Given the description of an element on the screen output the (x, y) to click on. 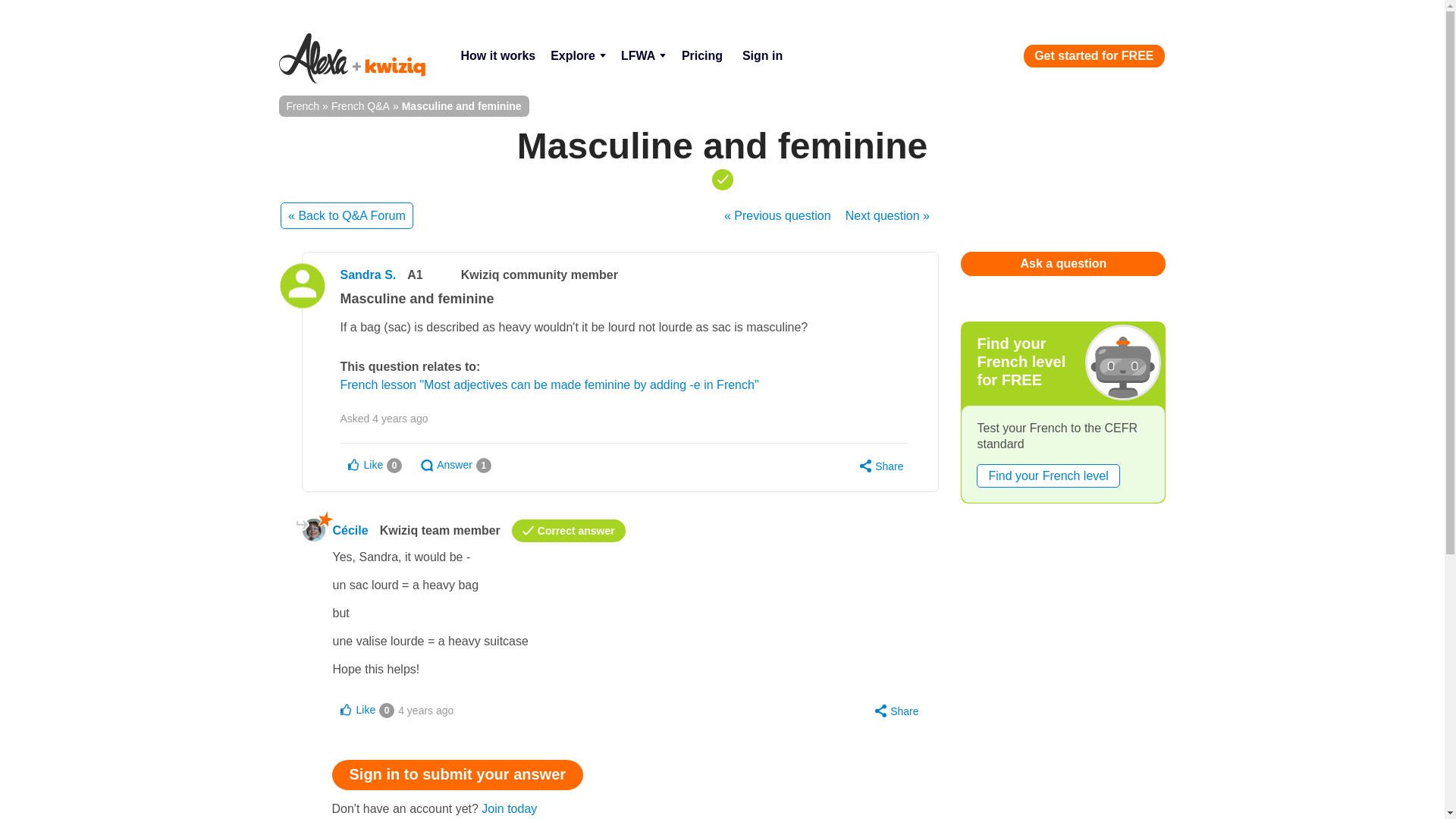
12th April 2020 (400, 418)
13th April 2020 (424, 710)
LFWA (643, 56)
Explore (577, 56)
How it works (497, 56)
